Given the description of an element on the screen output the (x, y) to click on. 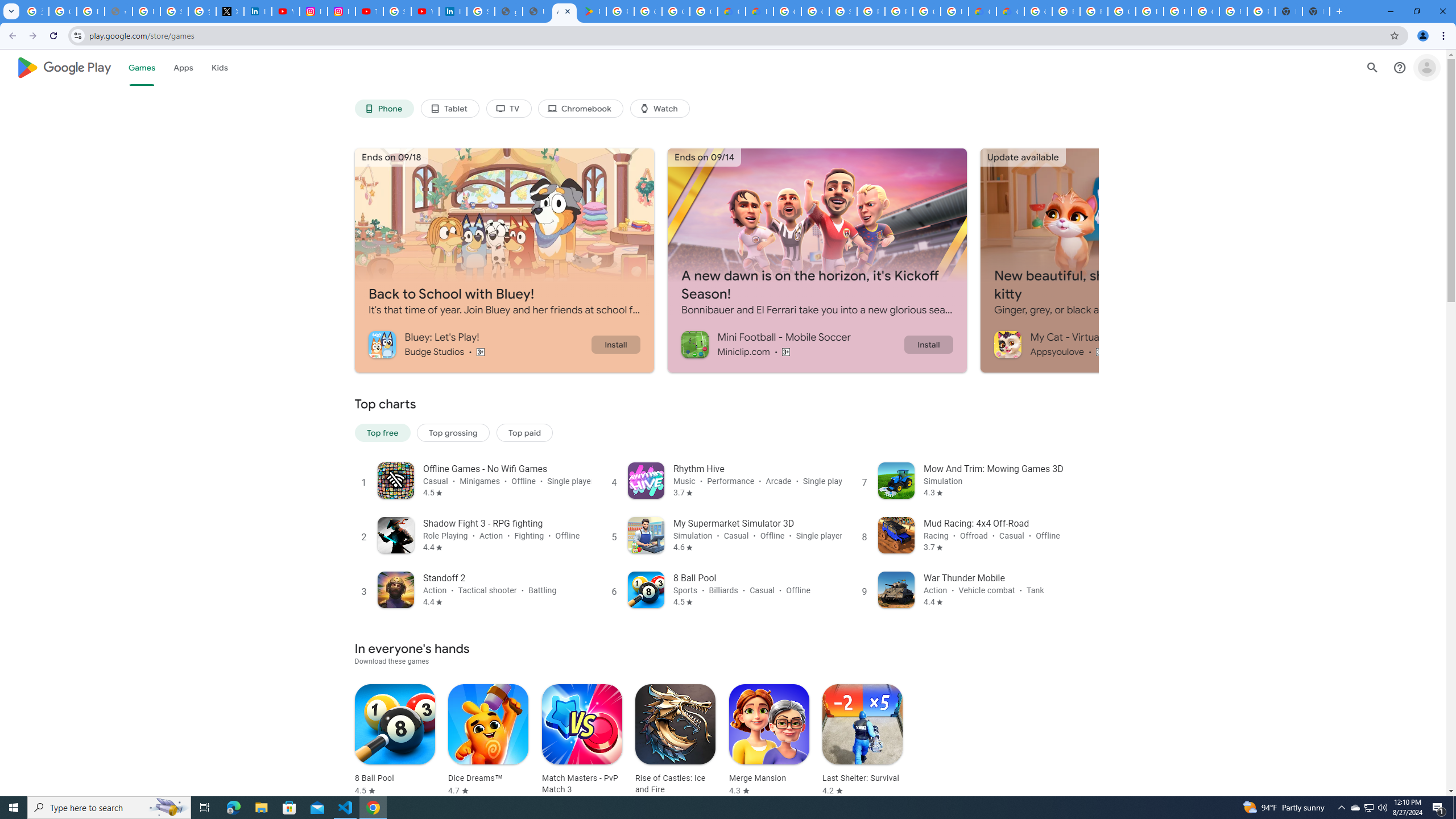
Sign in - Google Accounts (174, 11)
TV (508, 108)
Phone (383, 108)
Google Cloud Platform (1038, 11)
Sign in - Google Accounts (397, 11)
